Given the description of an element on the screen output the (x, y) to click on. 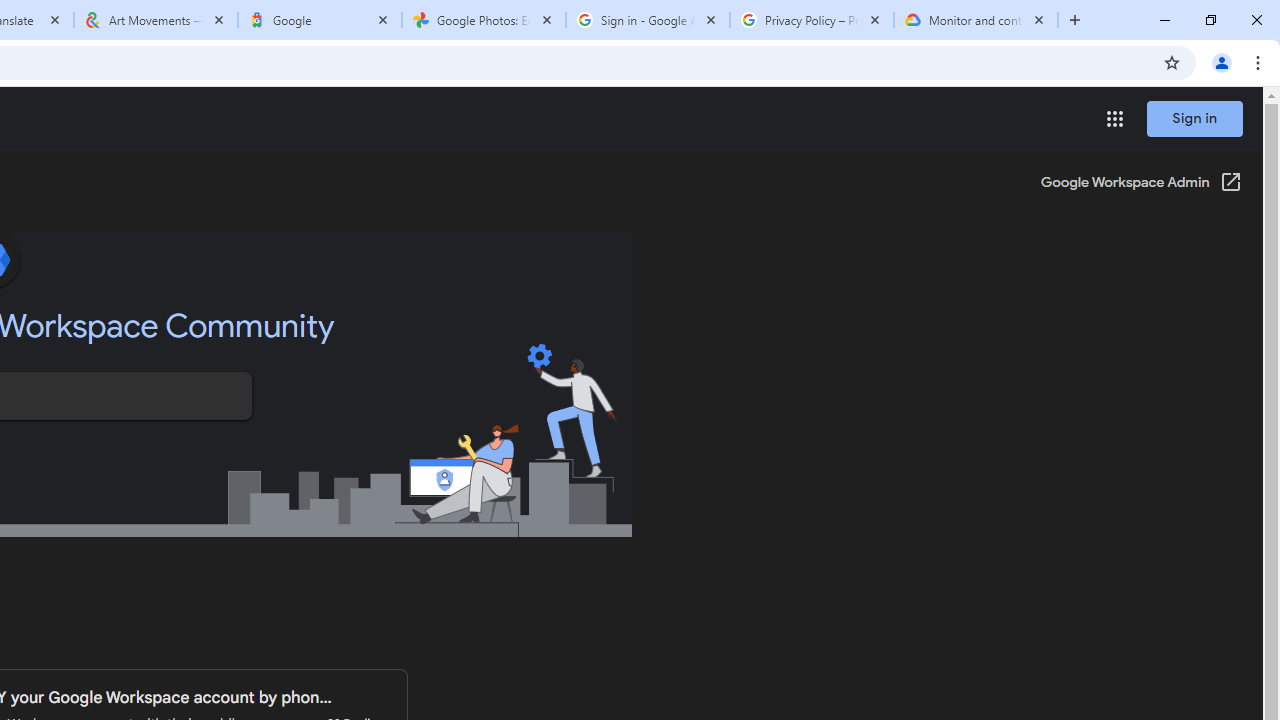
Bookmark this tab (1171, 62)
Sign in - Google Accounts (647, 20)
